Given the description of an element on the screen output the (x, y) to click on. 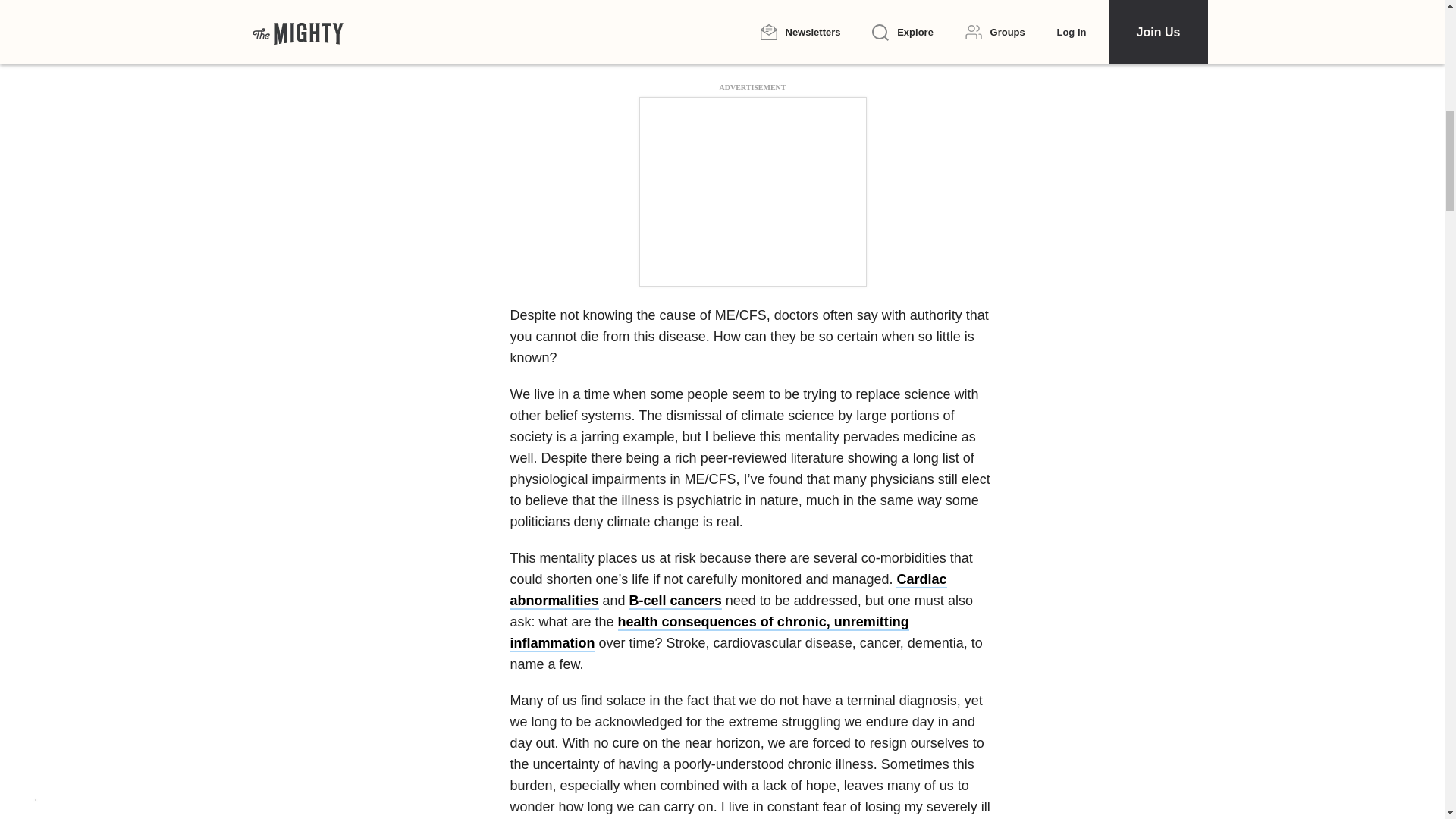
Cardiac abnormalities (727, 590)
B-cell cancers (675, 600)
health consequences of chronic, unremitting inflammation (708, 632)
